Given the description of an element on the screen output the (x, y) to click on. 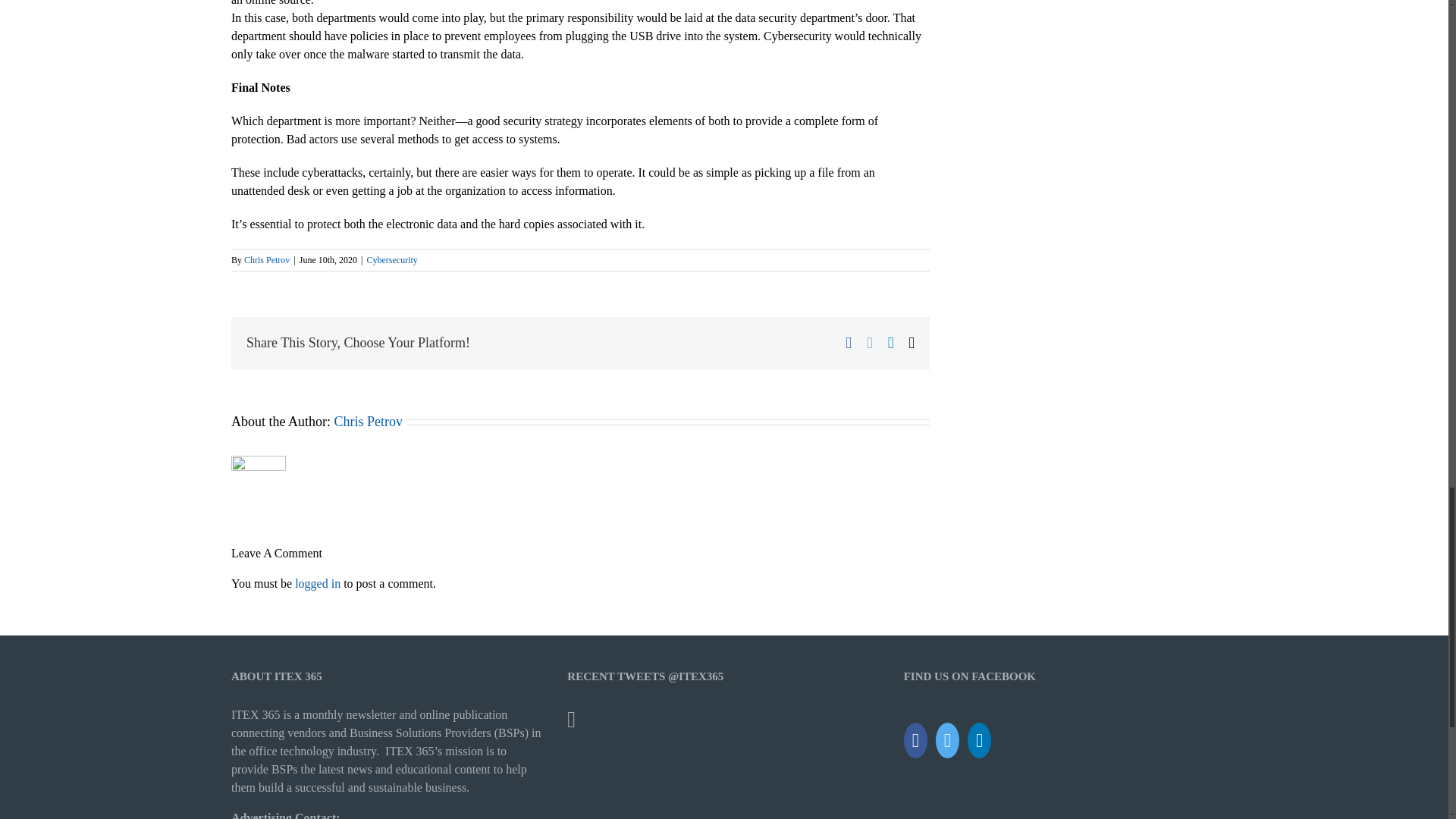
Posts by Chris Petrov (368, 421)
Cybersecurity (391, 259)
Posts by Chris Petrov (266, 259)
Chris Petrov (266, 259)
logged in (317, 583)
Chris Petrov (368, 421)
